Given the description of an element on the screen output the (x, y) to click on. 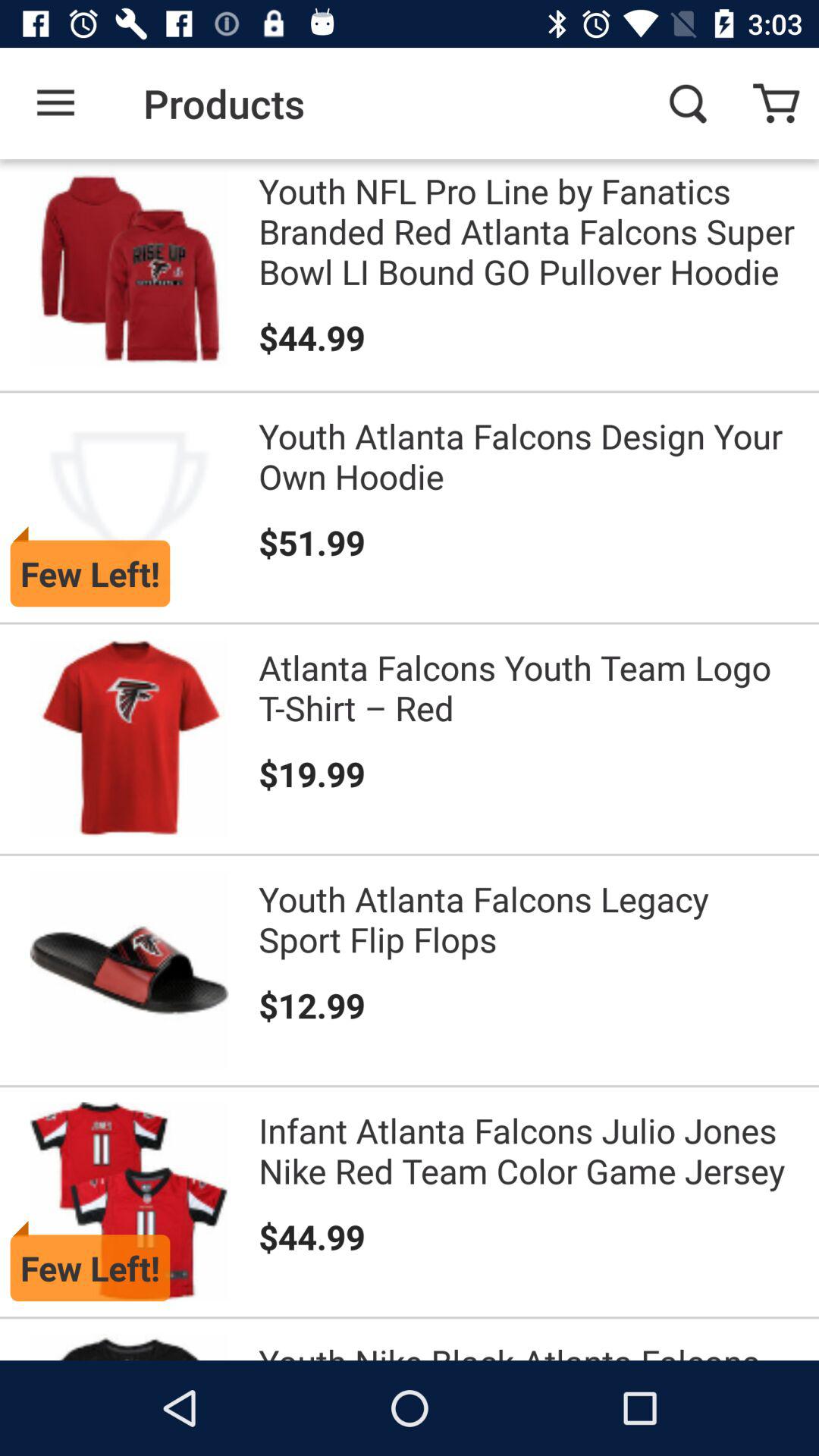
select the image which is left to the text 1299 (129, 970)
